Given the description of an element on the screen output the (x, y) to click on. 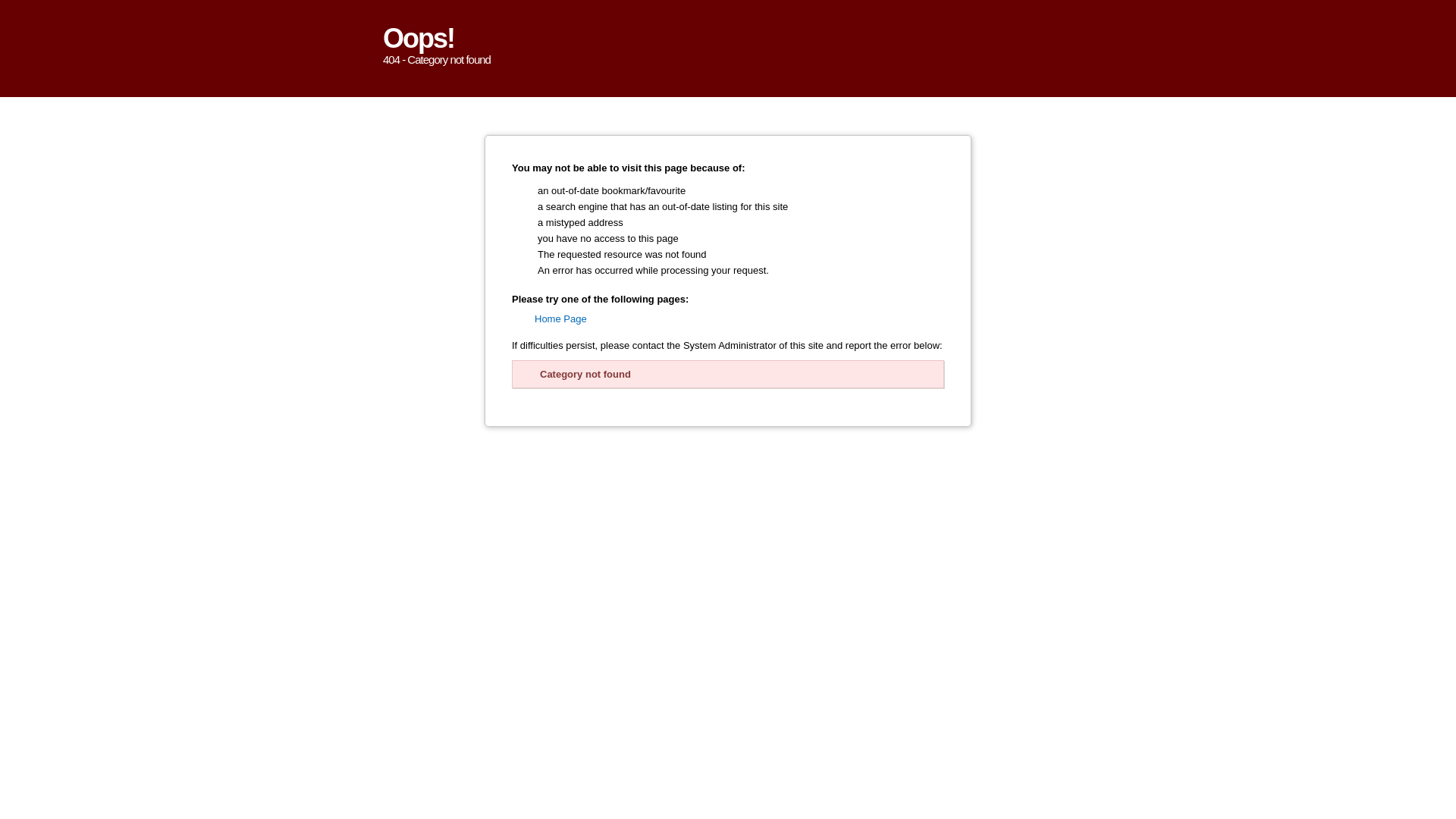
Home Page Element type: text (560, 318)
